Given the description of an element on the screen output the (x, y) to click on. 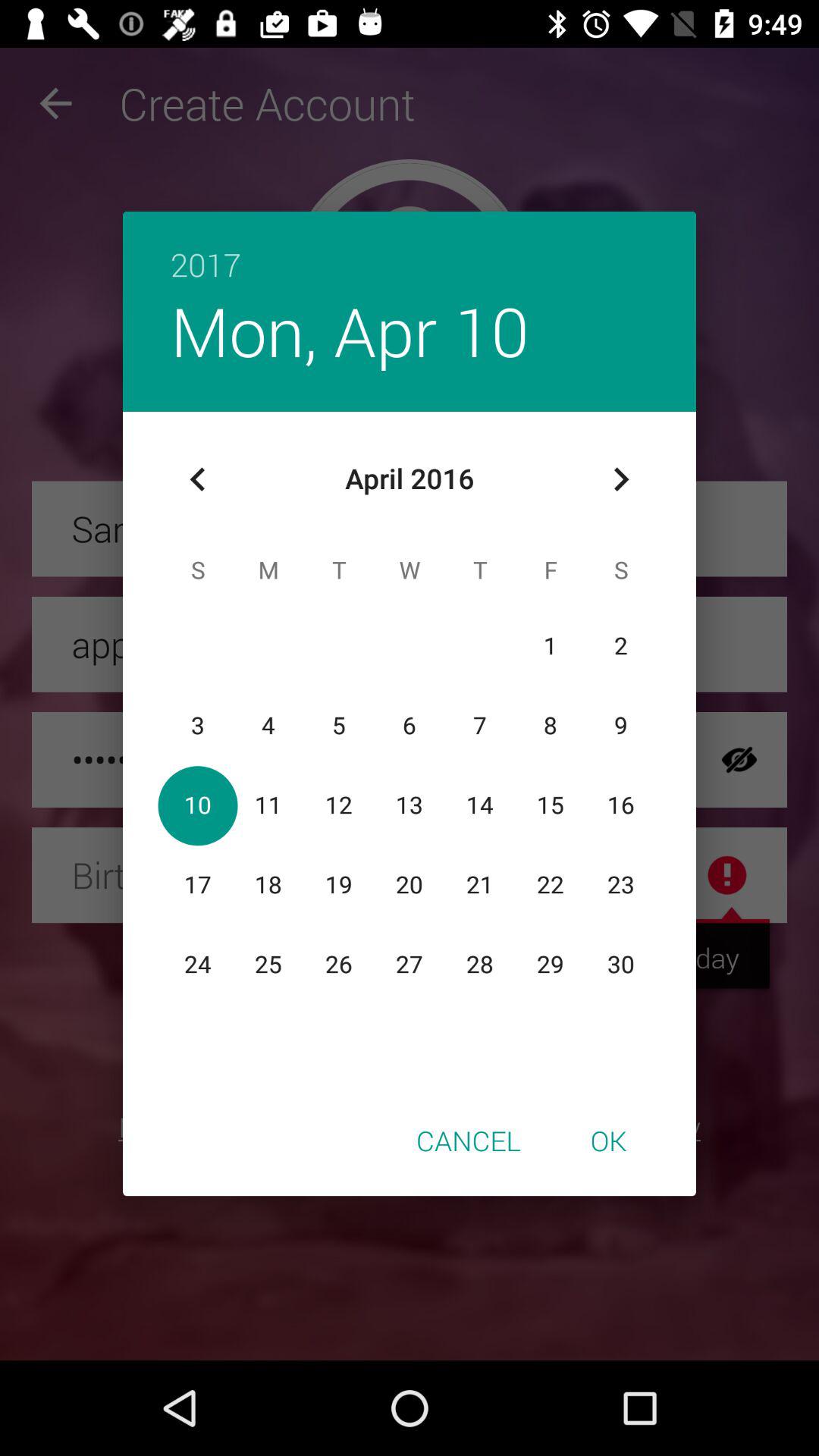
turn off item below the 2017 (620, 479)
